Given the description of an element on the screen output the (x, y) to click on. 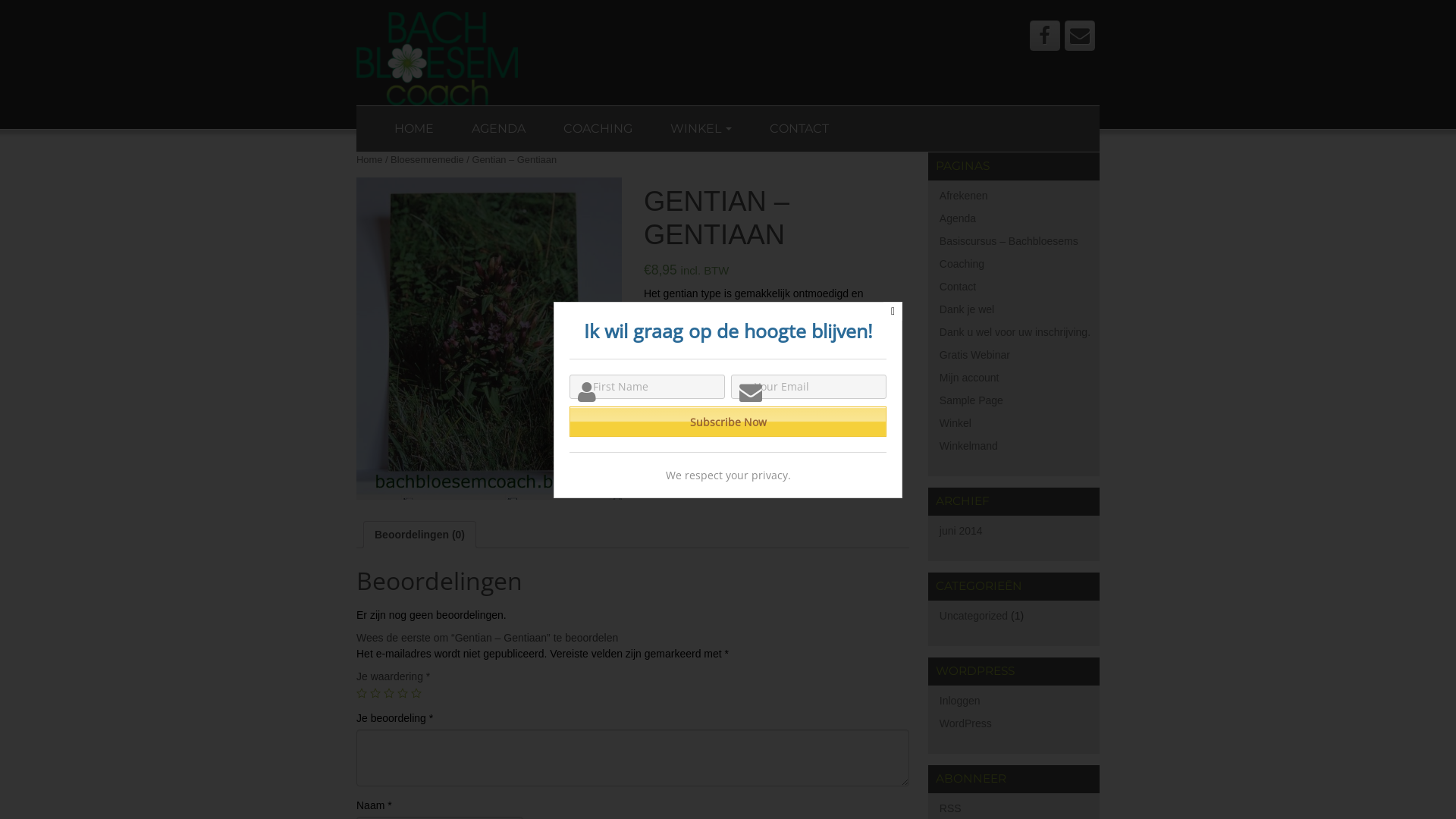
Winkel Element type: text (955, 423)
COACHING Element type: text (597, 128)
Contact Element type: text (957, 286)
Afrekenen Element type: text (963, 195)
2 Element type: text (375, 692)
4 Element type: text (402, 692)
BachbloesemCoach Element type: hover (436, 57)
AGENDA Element type: text (498, 128)
Uncategorized Element type: text (973, 615)
juni 2014 Element type: text (960, 530)
Subscribe Now Element type: text (727, 421)
BachbloesemCoach Facebook Element type: hover (1044, 35)
Inloggen Element type: text (959, 700)
BachbloesemCoach Email Element type: hover (1079, 35)
CONTACT Element type: text (798, 128)
Beoordelingen (0) Element type: text (419, 534)
Bloesemremedie Element type: text (427, 159)
Bloesemremedie Element type: text (841, 429)
Sample Page Element type: text (971, 400)
Mijn account Element type: text (969, 377)
WordPress Element type: text (965, 723)
HOME Element type: text (413, 128)
In winkelmand Element type: text (690, 388)
bachbloesem Element type: text (702, 445)
Gratis Webinar Element type: text (974, 354)
healing herbs Element type: text (772, 445)
Dank u wel voor uw inschrijving. Element type: text (1014, 332)
3 Element type: text (388, 692)
Agenda Element type: text (957, 218)
Dank je wel Element type: text (966, 309)
RSS Element type: text (950, 808)
1 Element type: text (361, 692)
Winkelmand Element type: text (968, 445)
Home Element type: text (369, 159)
Coaching Element type: text (961, 263)
5 Element type: text (416, 692)
Gentian Element type: hover (488, 338)
WINKEL Element type: text (700, 128)
